Given the description of an element on the screen output the (x, y) to click on. 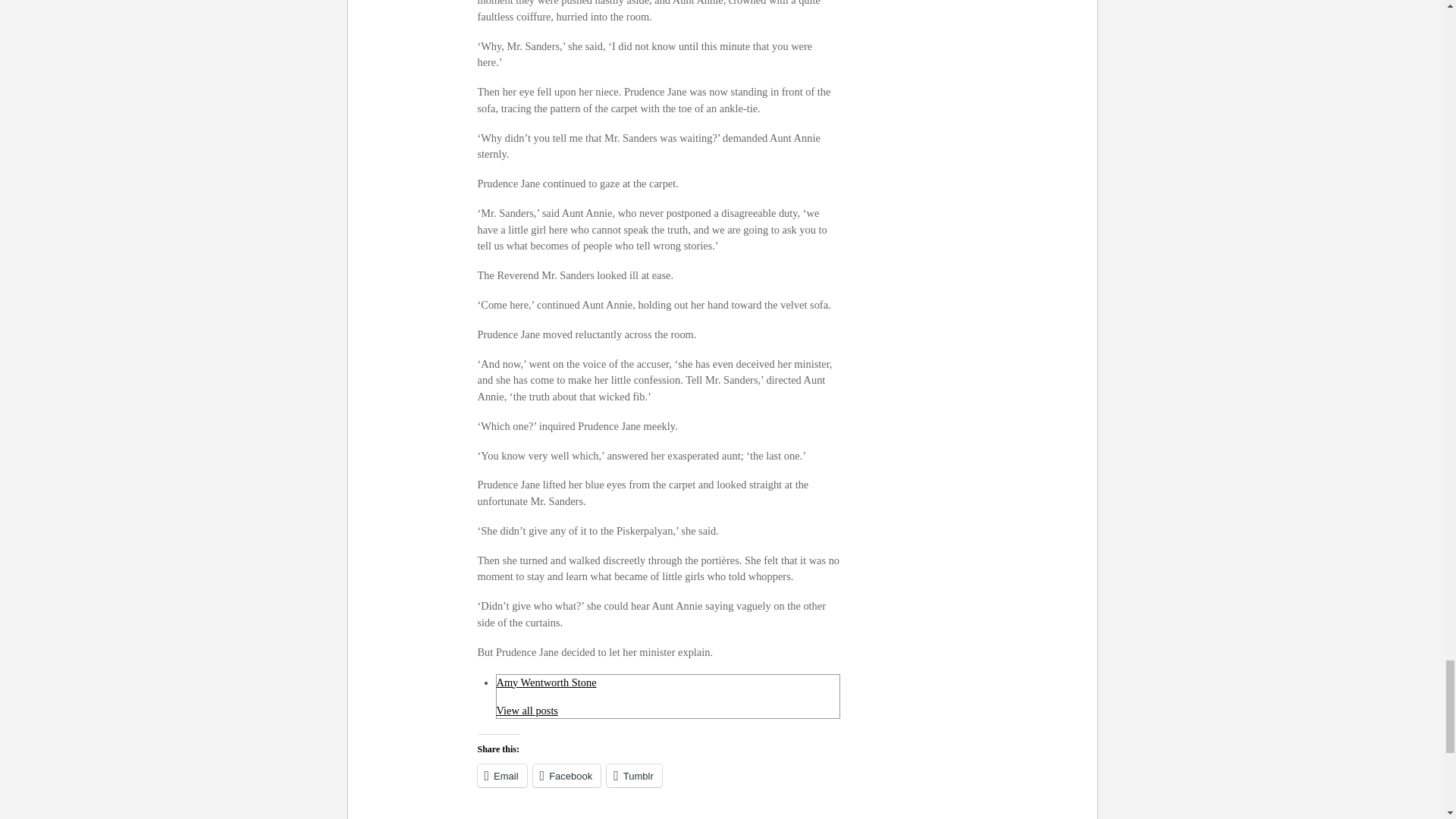
Click to share on Facebook (566, 775)
View all posts (526, 710)
Click to email a link to a friend (502, 775)
Amy Wentworth Stone (545, 682)
Amy Wentworth Stone (545, 682)
Click to share on Tumblr (634, 775)
Tumblr (634, 775)
Facebook (566, 775)
Email (502, 775)
View all posts (526, 710)
